Given the description of an element on the screen output the (x, y) to click on. 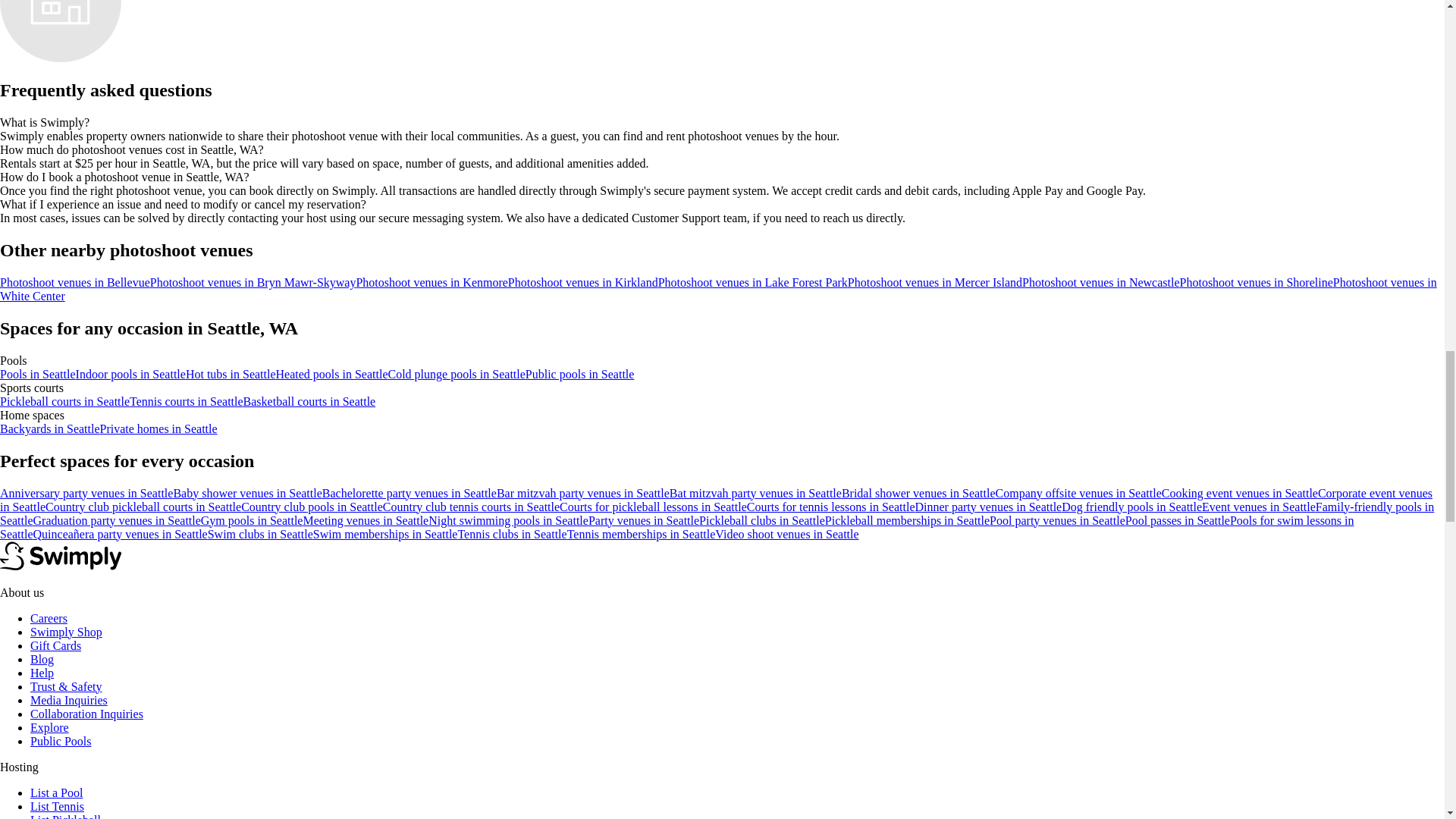
Hot tubs in Seattle (231, 373)
Photoshoot venues in Kenmore (430, 282)
Indoor pools in Seattle (130, 373)
List Tennis (57, 806)
Photoshoot venues in Bellevue (74, 282)
Pools in Seattle (37, 373)
Media Inquiries (68, 699)
Explore (49, 727)
Gift Cards (55, 645)
Help (41, 672)
Photoshoot venues in White Center (718, 289)
Photoshoot venues in Bryn Mawr-Skyway (252, 282)
Photoshoot venues in Newcastle (1100, 282)
Blog (41, 658)
Public Pools (60, 740)
